Given the description of an element on the screen output the (x, y) to click on. 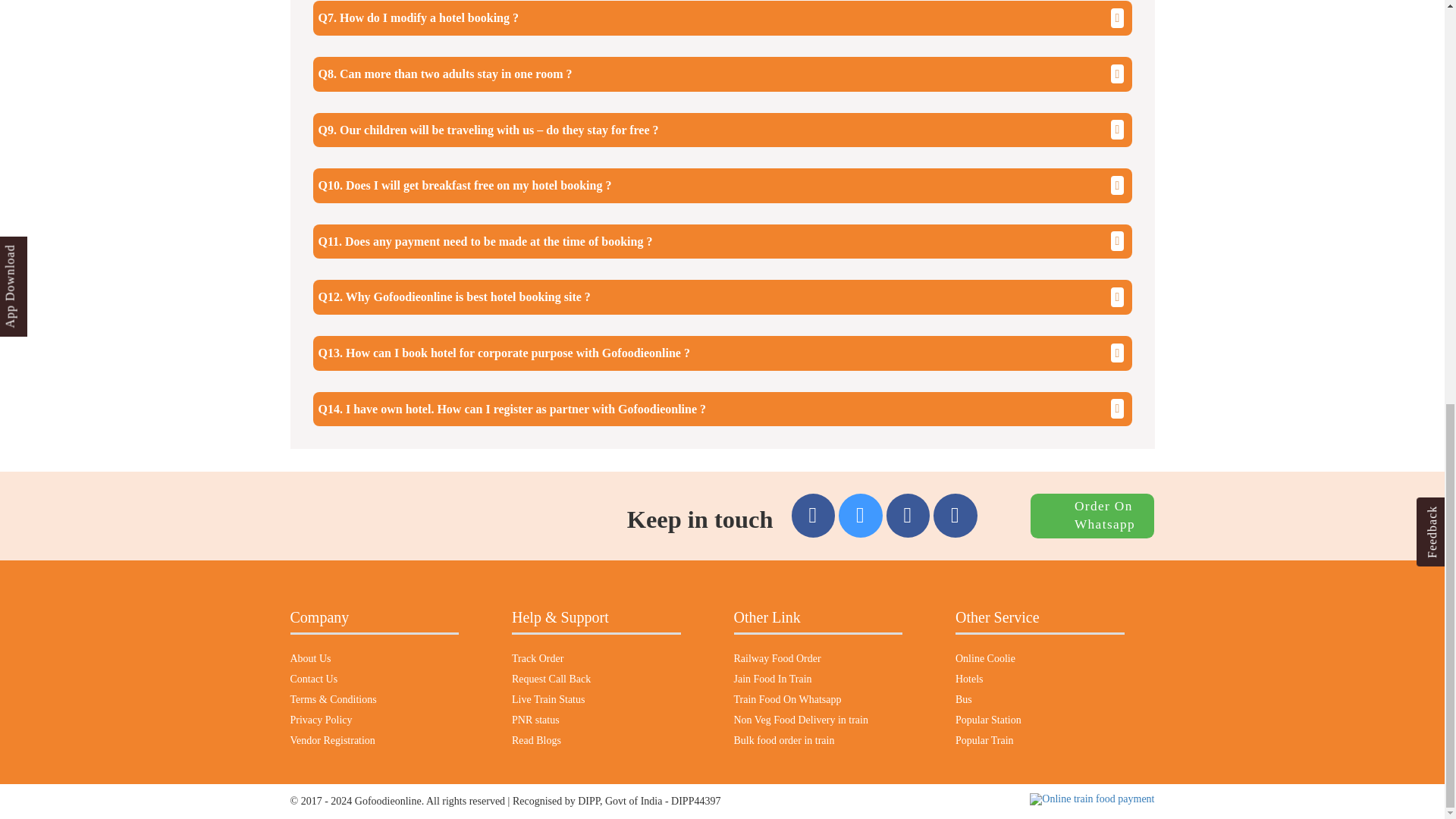
Order On Whatsapp (1092, 512)
Track Order (596, 661)
Train Food On Whatsapp (817, 702)
Vendor Registration (373, 743)
Contact Us (373, 681)
PNR status (596, 722)
Live Train Status (596, 702)
Railway Food Order (817, 661)
Privacy Policy (373, 722)
About Us (373, 661)
